Given the description of an element on the screen output the (x, y) to click on. 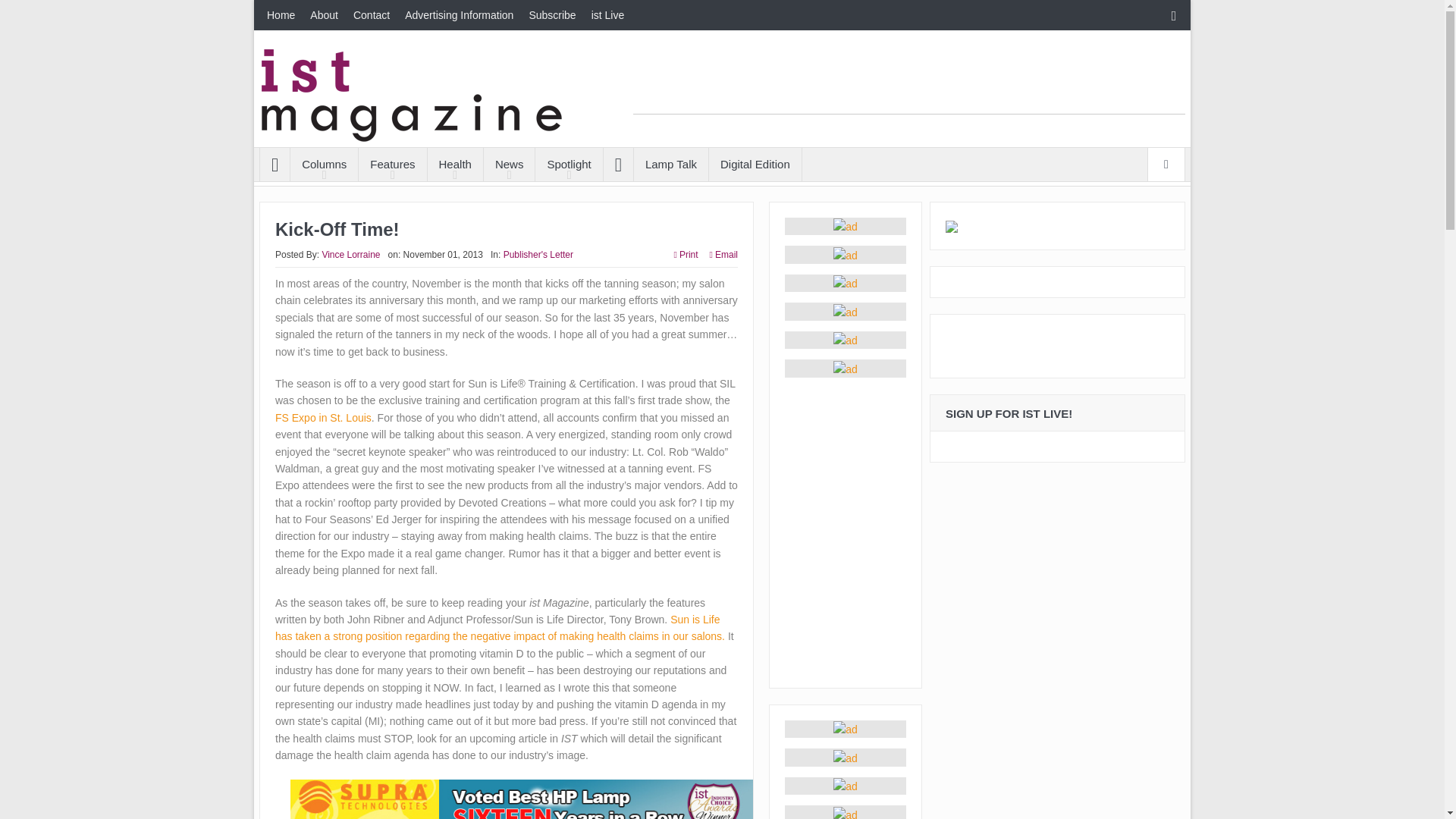
Home (280, 15)
Columns (323, 164)
About (324, 15)
Advertising Information (459, 15)
Contact (371, 15)
ist Live (607, 15)
Subscribe (552, 15)
Features (392, 164)
Health (455, 164)
